Given the description of an element on the screen output the (x, y) to click on. 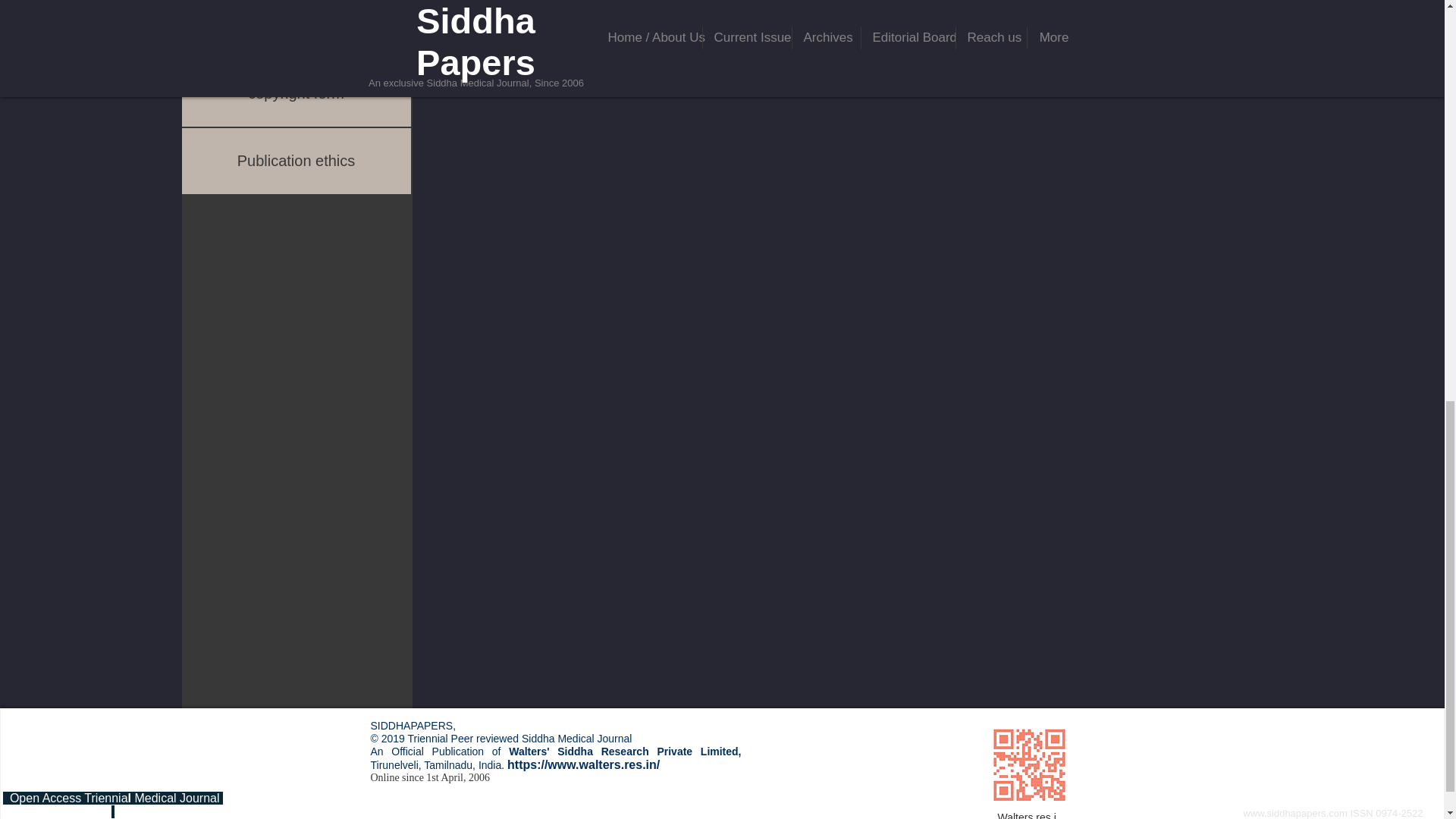
copyright form (296, 93)
Plagiarism Policy (296, 29)
Publication ethics (296, 160)
